Given the description of an element on the screen output the (x, y) to click on. 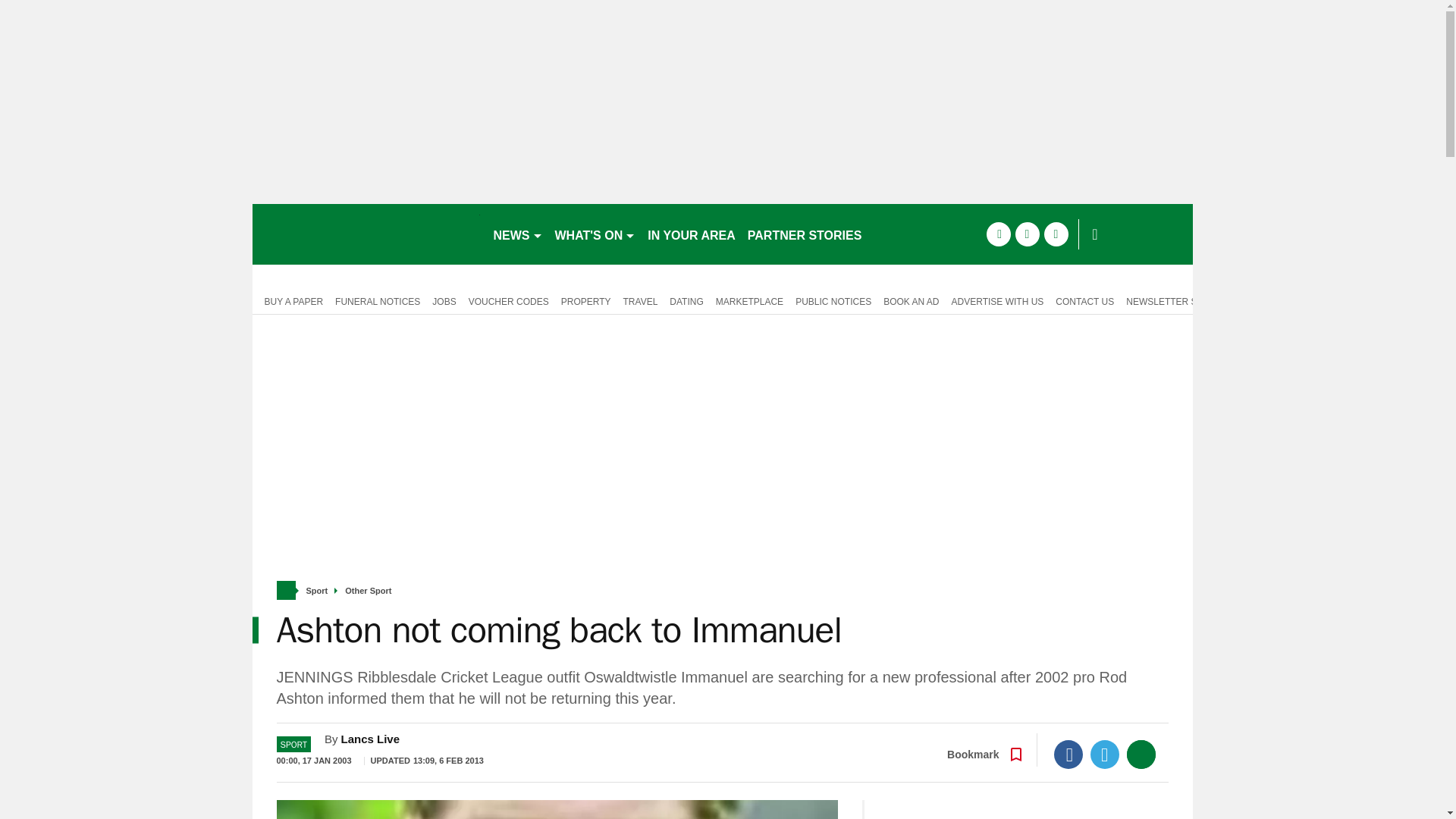
WHAT'S ON (595, 233)
twitter (1026, 233)
ADVERTISE WITH US (996, 300)
BUY A PAPER (290, 300)
Twitter (1104, 754)
Facebook (1068, 754)
TRAVEL (640, 300)
PUBLIC NOTICES (833, 300)
MARKETPLACE (749, 300)
facebook (997, 233)
instagram (1055, 233)
accrington (365, 233)
VOUCHER CODES (508, 300)
PARTNER STORIES (804, 233)
BOOK AN AD (910, 300)
